Given the description of an element on the screen output the (x, y) to click on. 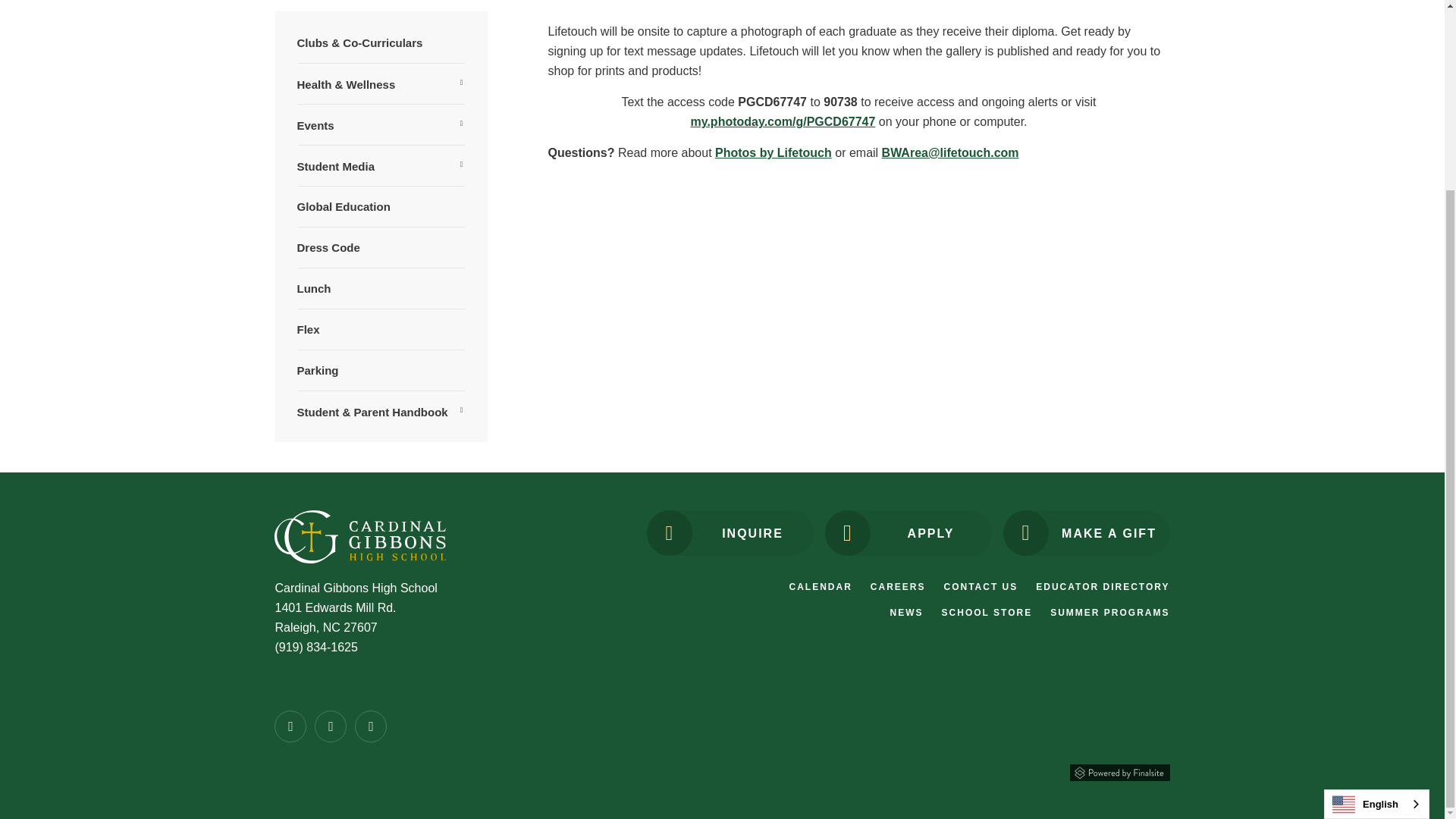
Powered by Finalsite opens in a new window (1118, 771)
